Given the description of an element on the screen output the (x, y) to click on. 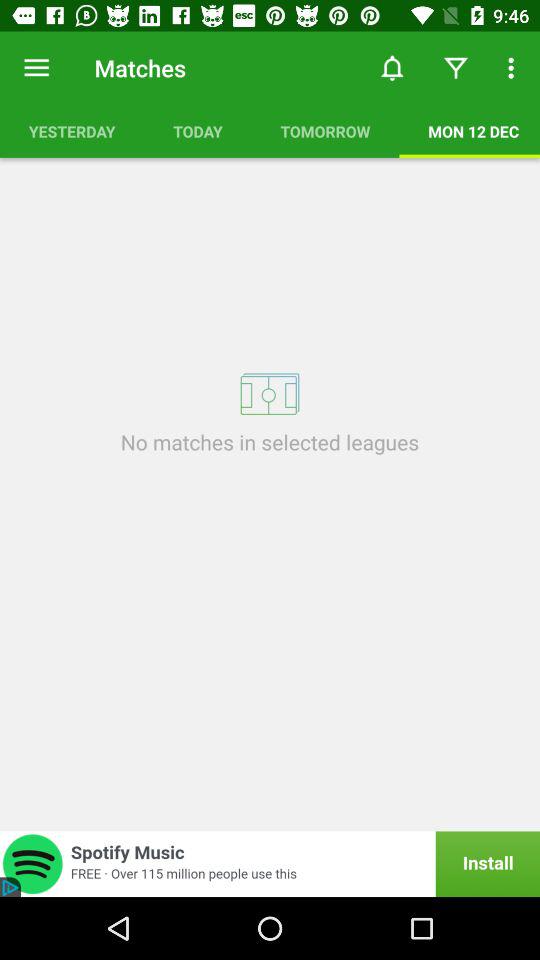
click the item above tomorrow (392, 67)
